Given the description of an element on the screen output the (x, y) to click on. 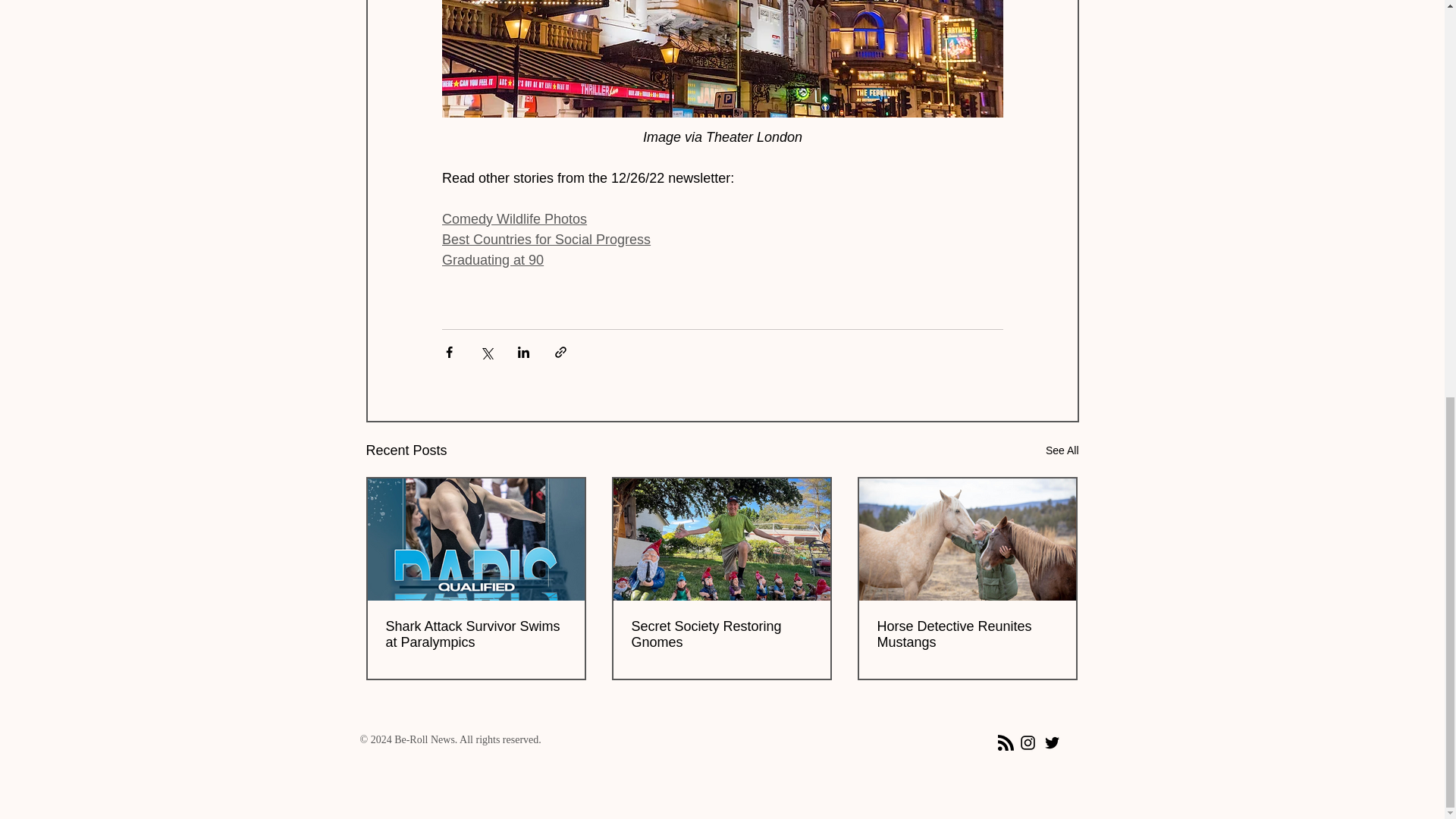
Horse Detective Reunites Mustangs (966, 634)
Secret Society Restoring Gnomes (720, 634)
Shark Attack Survivor Swims at Paralympics (475, 634)
See All (1061, 450)
Best Countries for Social Progress (545, 239)
Comedy Wildlife Photos (513, 218)
Graduating at 90 (492, 259)
